Given the description of an element on the screen output the (x, y) to click on. 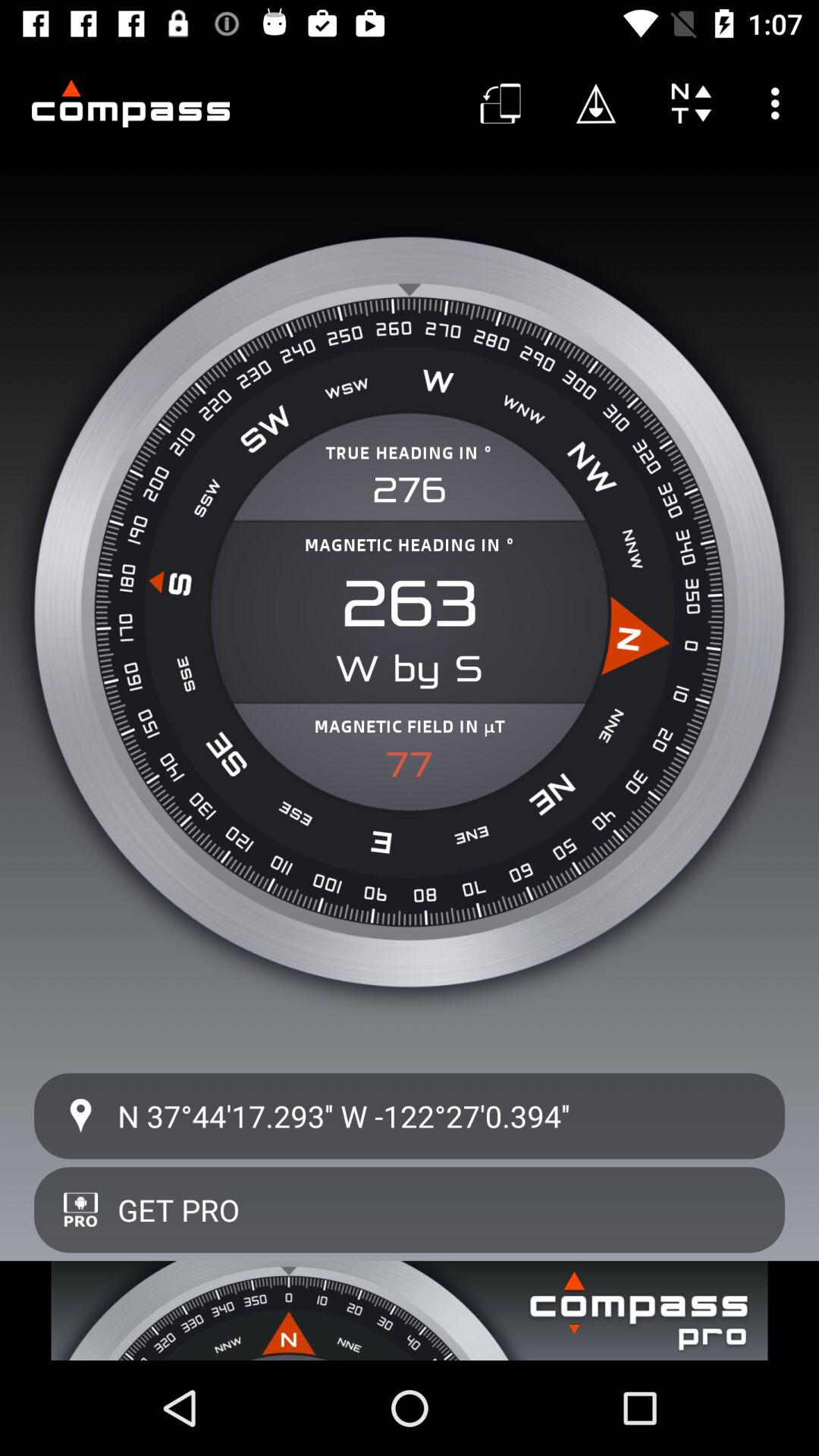
click the item above the magnetic field in icon (409, 603)
